Given the description of an element on the screen output the (x, y) to click on. 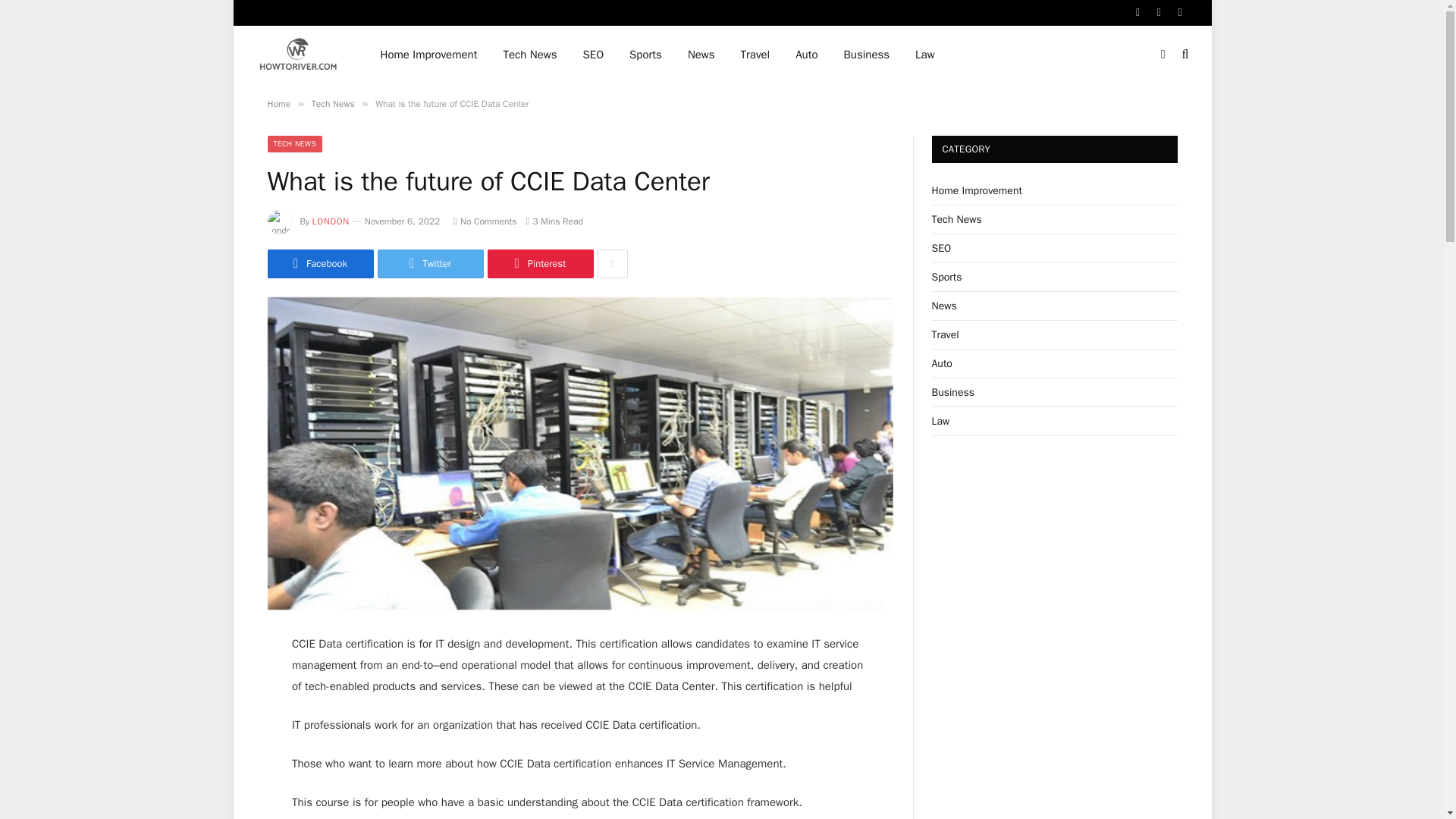
Posts by London (331, 221)
Share on Facebook (319, 263)
Business (866, 54)
TECH NEWS (293, 143)
News (701, 54)
Travel (755, 54)
Howtoriver.com (298, 54)
Sports (645, 54)
Tech News (529, 54)
Twitter (430, 263)
Pinterest (539, 263)
Switch to Dark Design - easier on eyes. (1163, 54)
LONDON (331, 221)
Share on Pinterest (539, 263)
Facebook (319, 263)
